Given the description of an element on the screen output the (x, y) to click on. 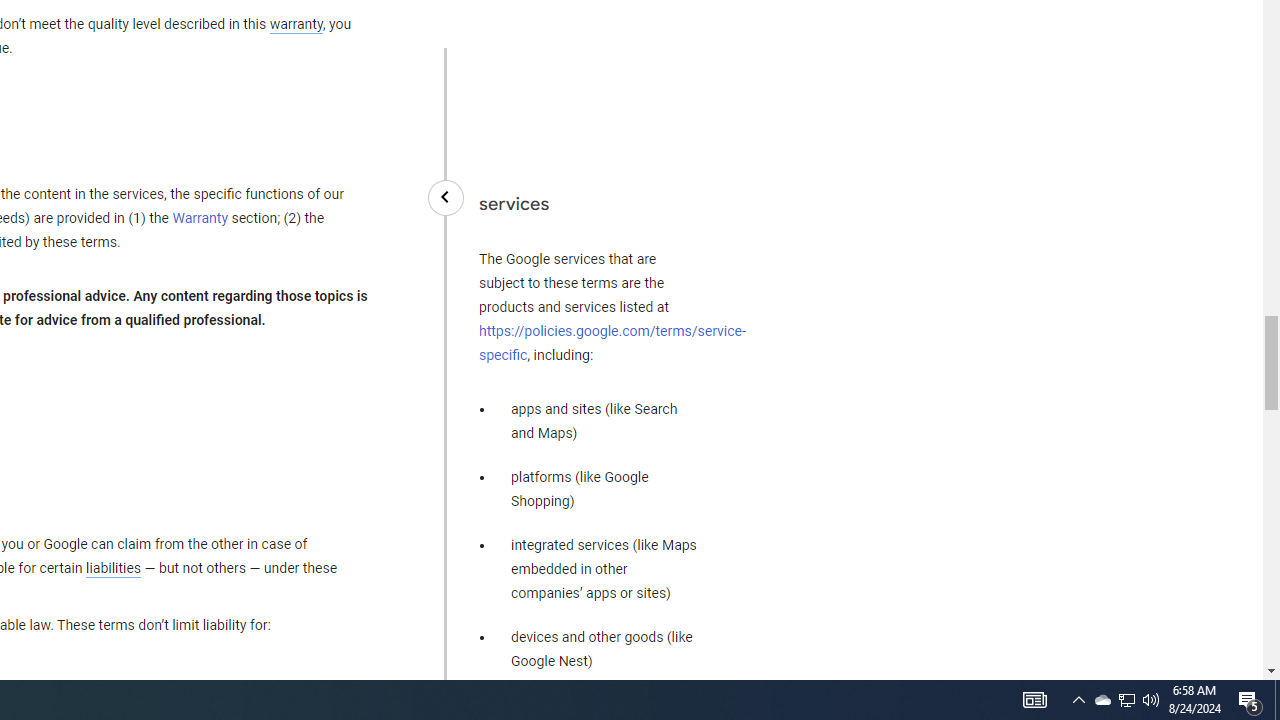
warranty (295, 25)
Warranty (200, 219)
https://policies.google.com/terms/service-specific (612, 342)
liabilities (113, 568)
